Given the description of an element on the screen output the (x, y) to click on. 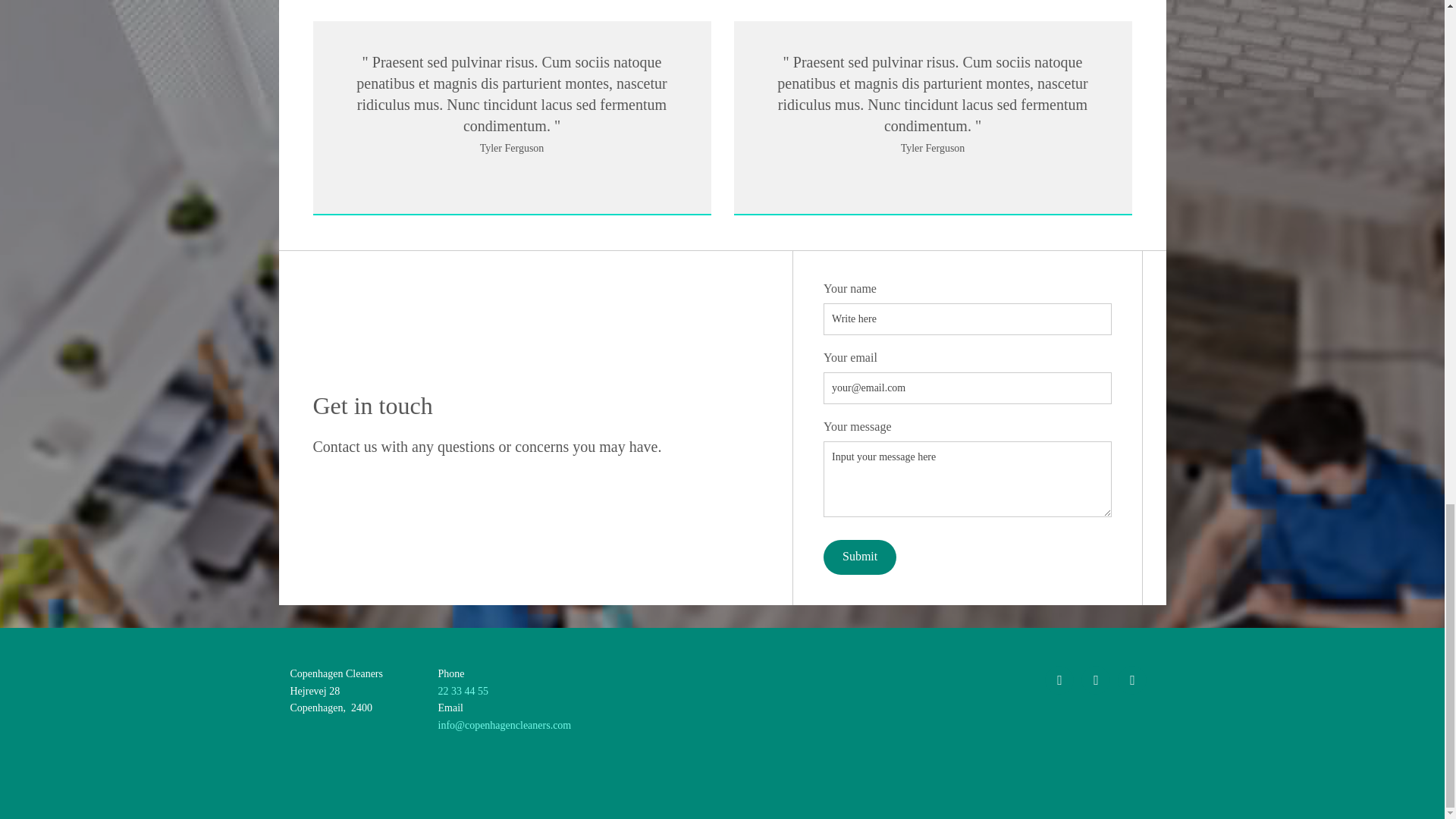
Submit (860, 556)
Submit (860, 556)
22 33 44 55 (463, 690)
